Given the description of an element on the screen output the (x, y) to click on. 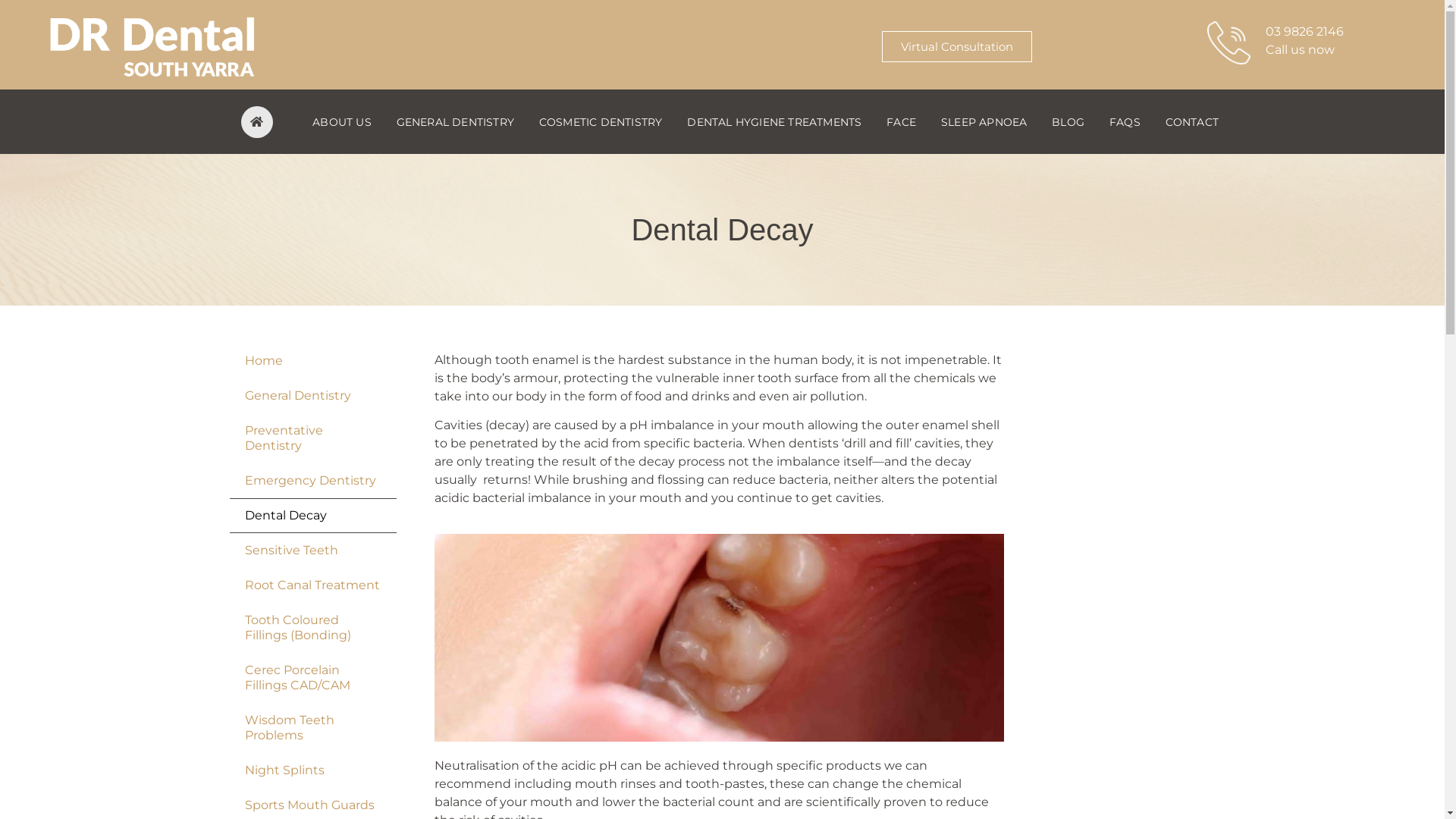
Wisdom Teeth Problems Element type: text (312, 727)
BLOG Element type: text (1068, 121)
CONTACT Element type: text (1191, 121)
COSMETIC DENTISTRY Element type: text (600, 121)
GENERAL DENTISTRY Element type: text (454, 121)
DENTAL HYGIENE TREATMENTS Element type: text (774, 121)
Emergency Dentistry Element type: text (312, 480)
Root Canal Treatment Element type: text (312, 584)
ABOUT US Element type: text (341, 121)
03 9826 2146 Element type: text (1304, 31)
Cerec Porcelain Fillings CAD/CAM Element type: text (312, 677)
Dental Decay Element type: text (312, 515)
Home Element type: text (312, 360)
General Dentistry Element type: text (312, 395)
Tooth Coloured Fillings (Bonding) Element type: text (312, 627)
Virtual Consultation Element type: text (956, 46)
SLEEP APNOEA Element type: text (983, 121)
Preventative Dentistry Element type: text (312, 438)
Night Splints Element type: text (312, 770)
Call us now Element type: text (1299, 49)
FAQS Element type: text (1124, 121)
Sensitive Teeth Element type: text (312, 550)
FACE Element type: text (901, 121)
